Given the description of an element on the screen output the (x, y) to click on. 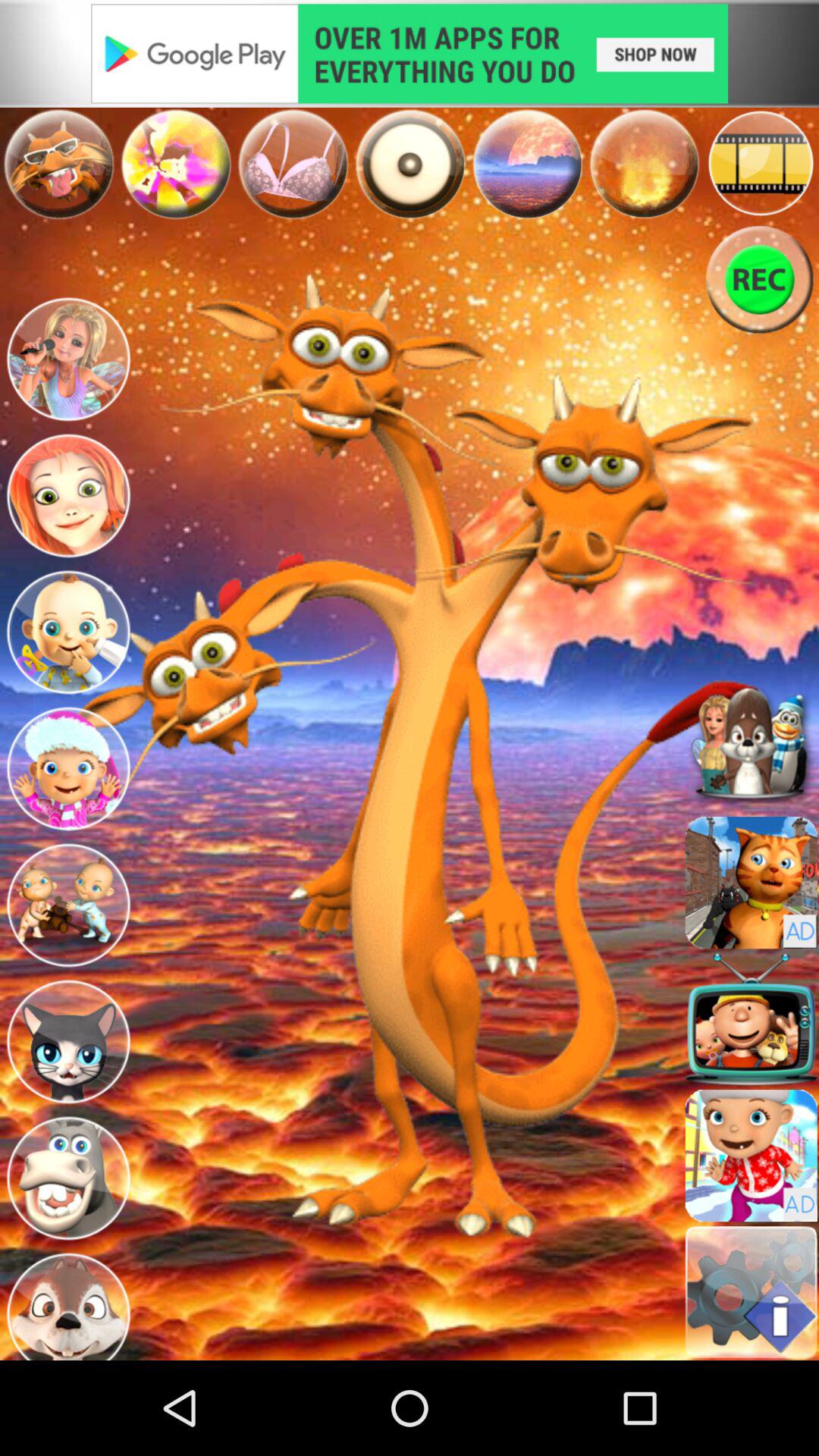
fire breathing options (643, 163)
